Given the description of an element on the screen output the (x, y) to click on. 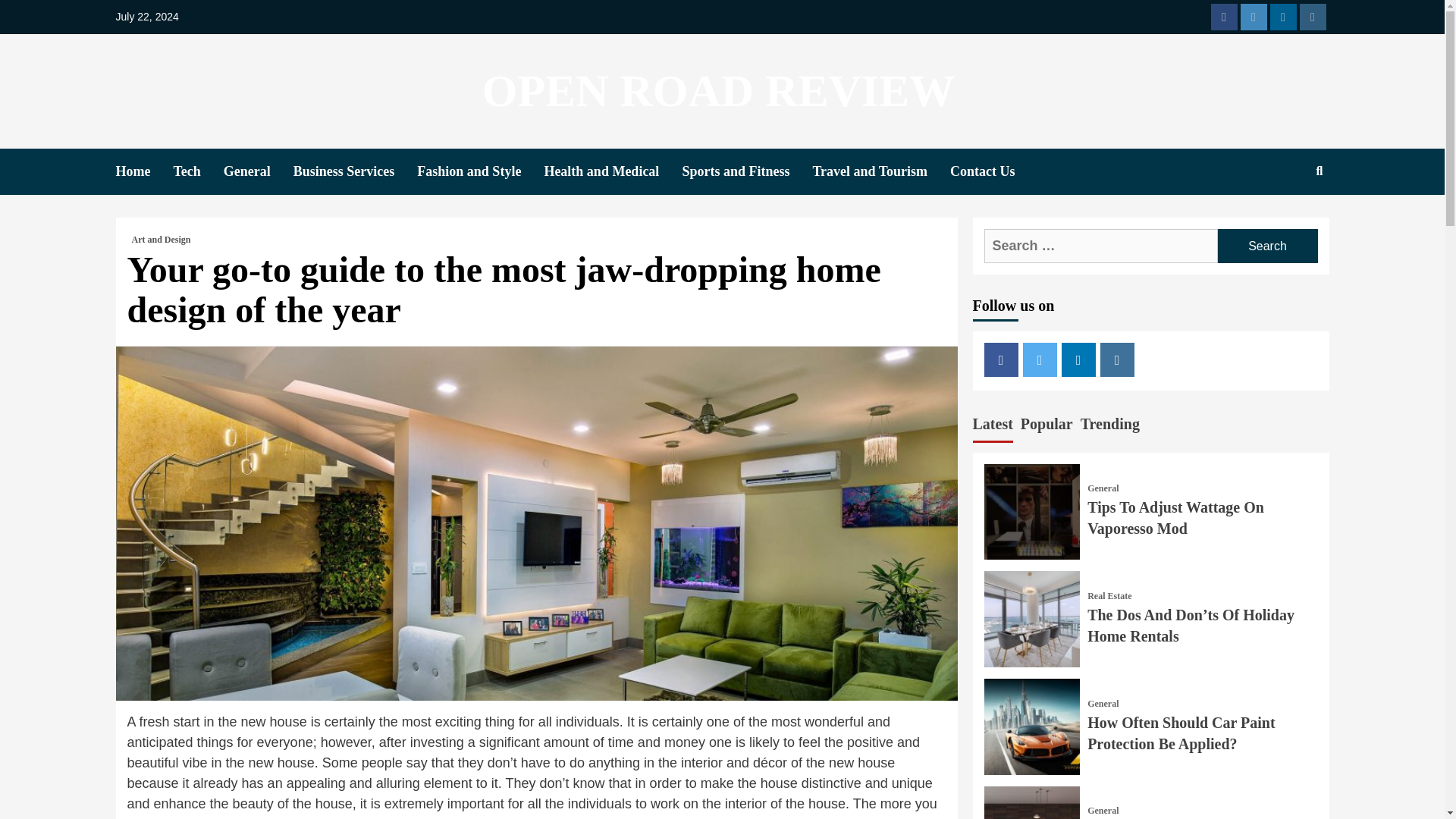
Business Services (355, 171)
Sports and Fitness (746, 171)
Linkedin (1078, 359)
Home (144, 171)
Youtube (1313, 17)
Twitter (1040, 359)
Contact Us (994, 171)
Twitter (1253, 17)
Travel and Tourism (881, 171)
Fashion and Style (479, 171)
Facebook (1000, 359)
Popular (1046, 426)
Health and Medical (612, 171)
Search (1267, 245)
Real Estate (1109, 595)
